Given the description of an element on the screen output the (x, y) to click on. 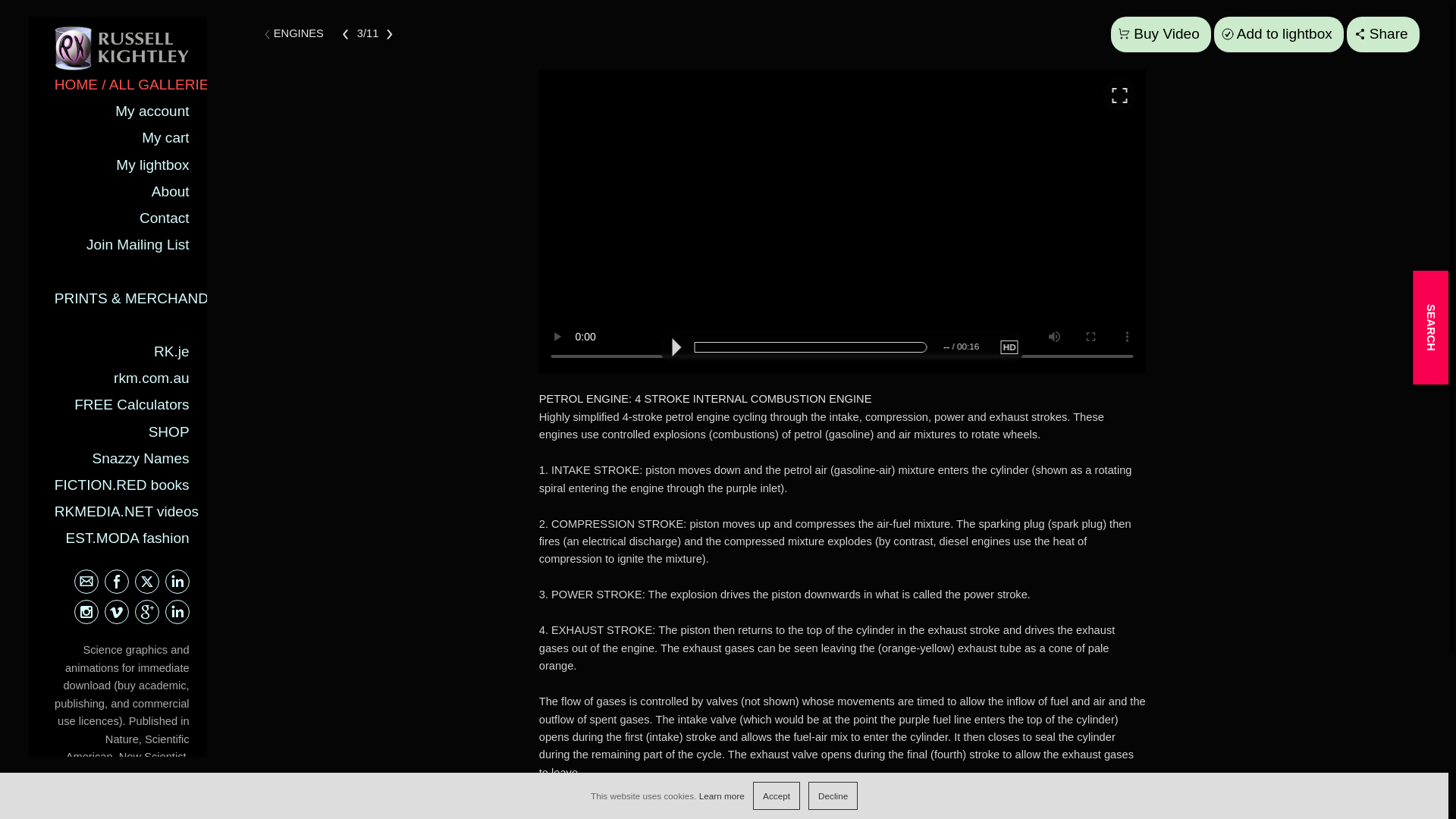
ENGINES (298, 33)
Snazzy Names (141, 458)
Buy Video (1159, 34)
HD (1009, 346)
My account (152, 110)
Contact (164, 217)
Join Mailing List (137, 244)
SHOP (168, 431)
About (170, 191)
Share (1382, 34)
My lightbox (152, 164)
RKMEDIA.NET videos (126, 511)
Add to lightbox (1278, 34)
FICTION.RED books (122, 484)
My cart (165, 137)
